Given the description of an element on the screen output the (x, y) to click on. 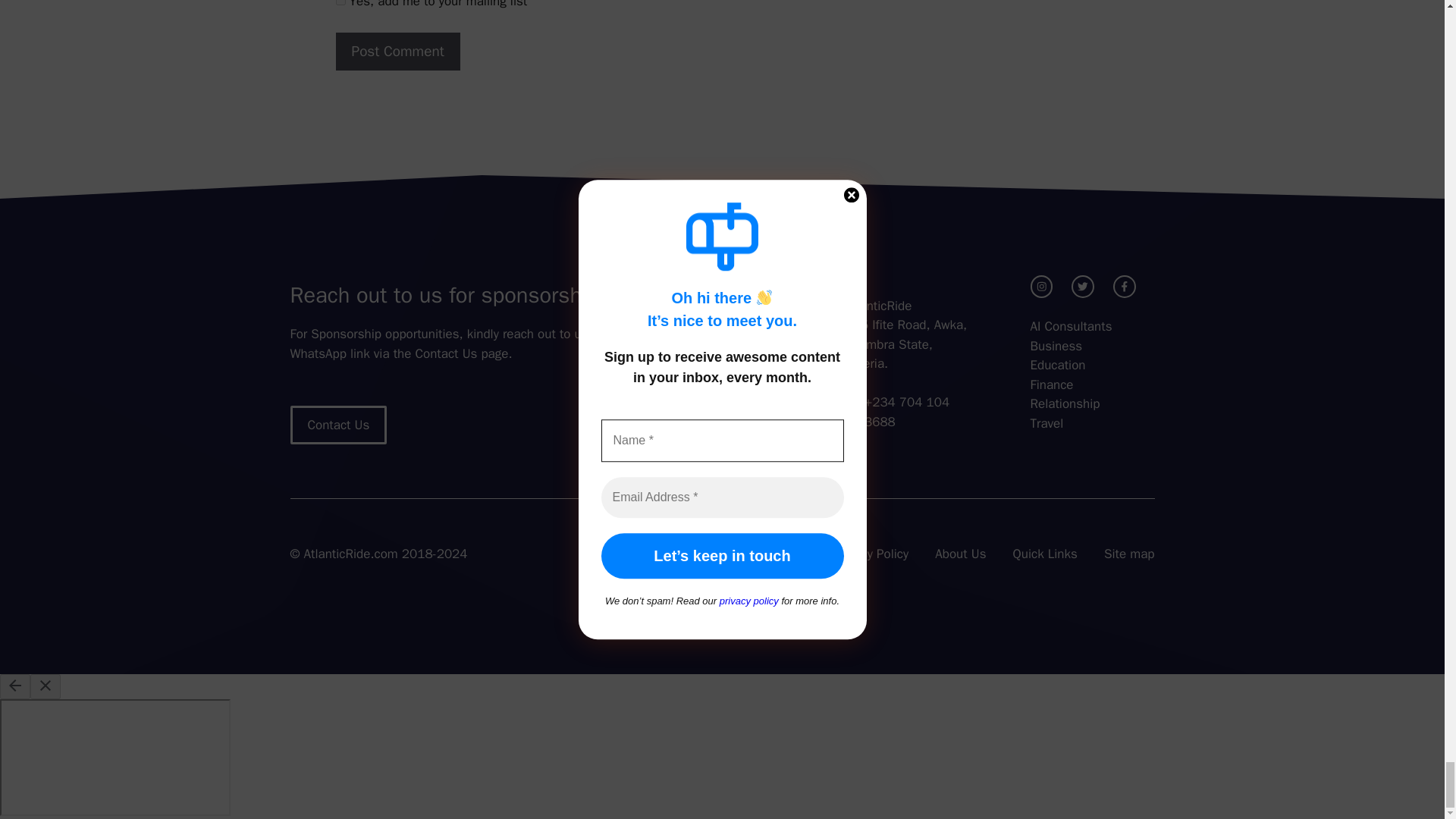
Post Comment (397, 51)
1 (339, 2)
